Given the description of an element on the screen output the (x, y) to click on. 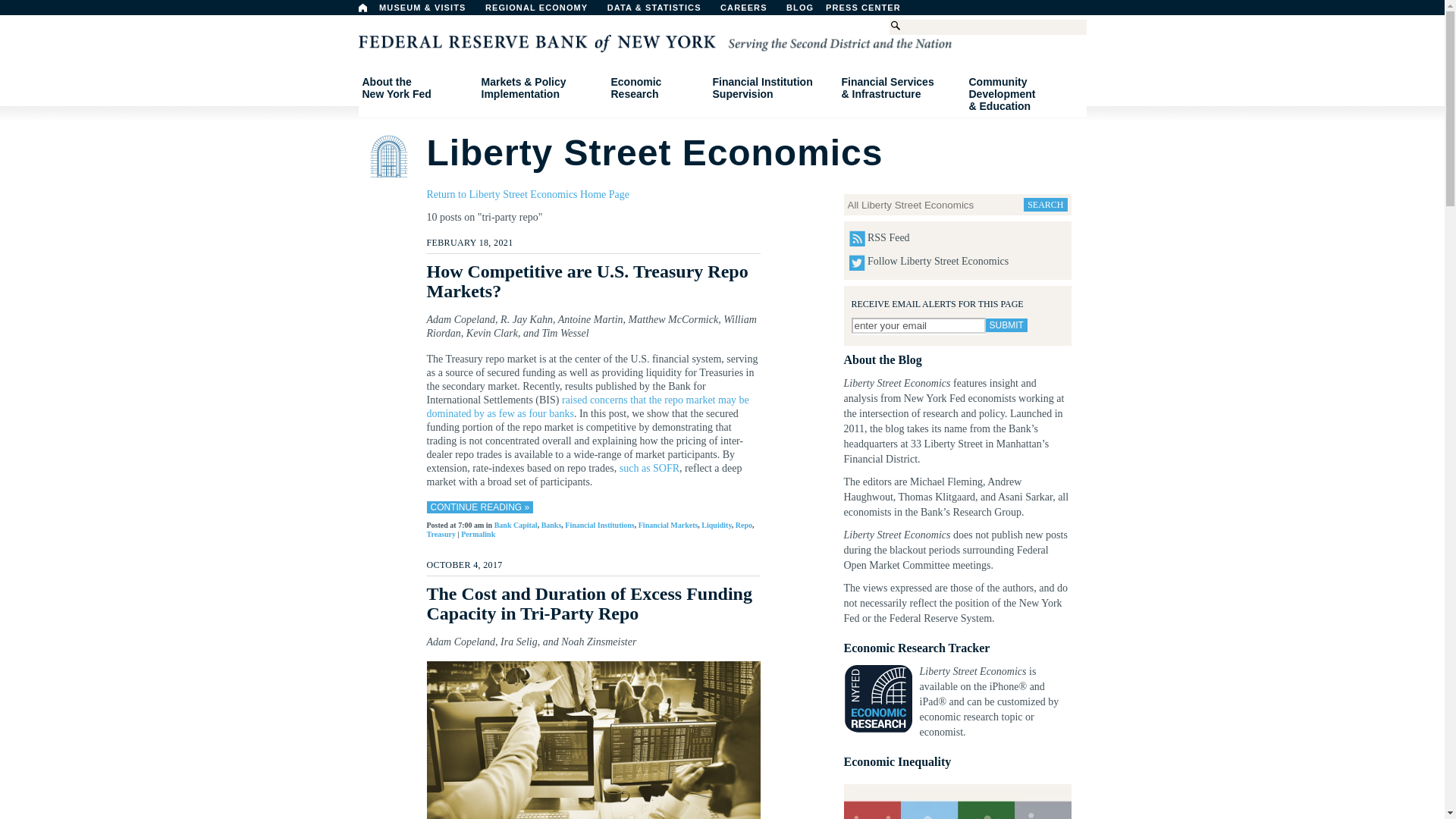
REGIONAL ECONOMY (543, 11)
Submit (415, 87)
BLOG (1006, 325)
enter your email (839, 11)
Home (917, 325)
PRESS CENTER (362, 8)
CAREERS (870, 11)
